Given the description of an element on the screen output the (x, y) to click on. 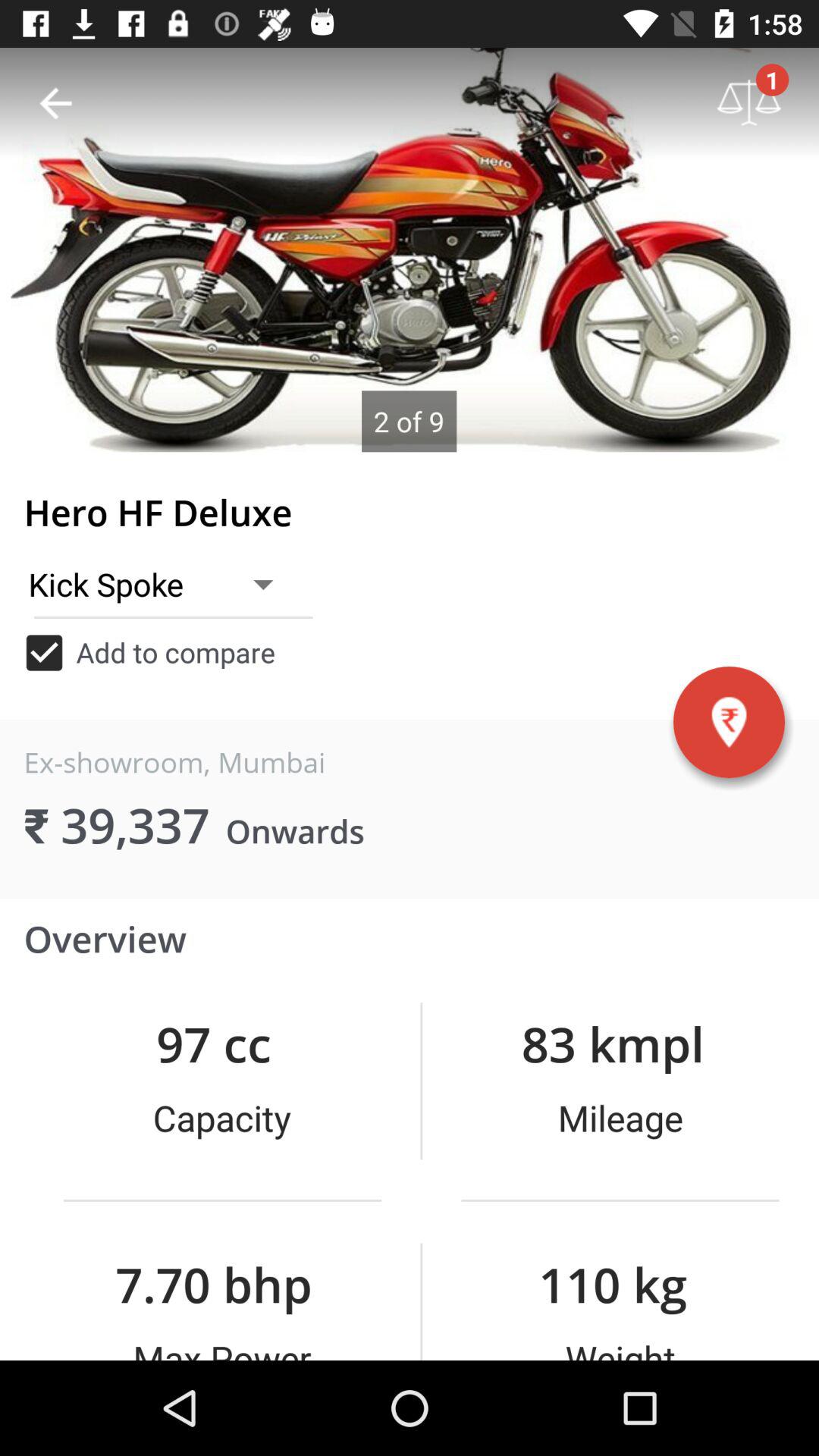
turn on the icon above hero hf deluxe (55, 103)
